Given the description of an element on the screen output the (x, y) to click on. 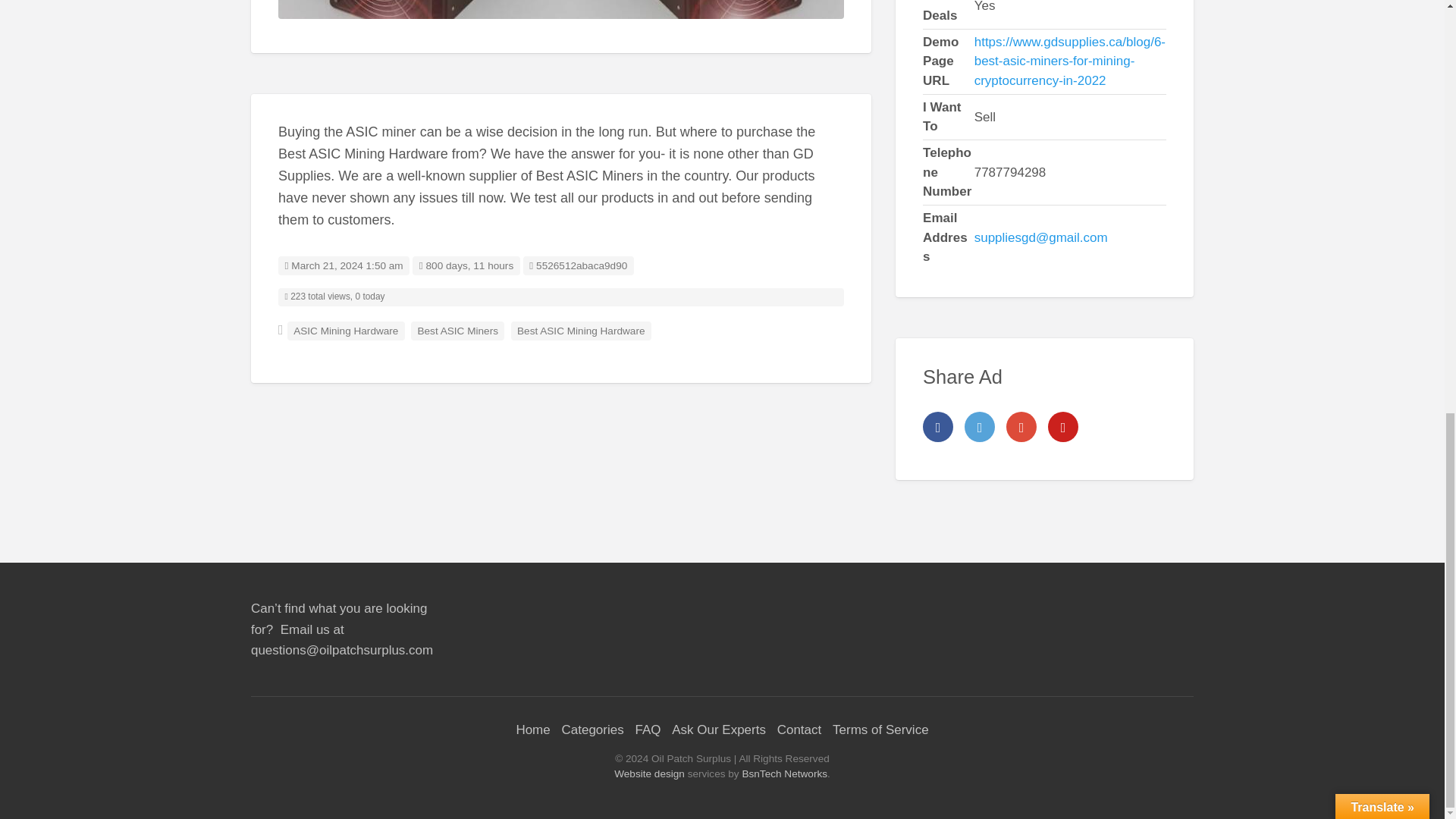
Listing ID (577, 265)
ASIC Mining Hardware (561, 9)
